Given the description of an element on the screen output the (x, y) to click on. 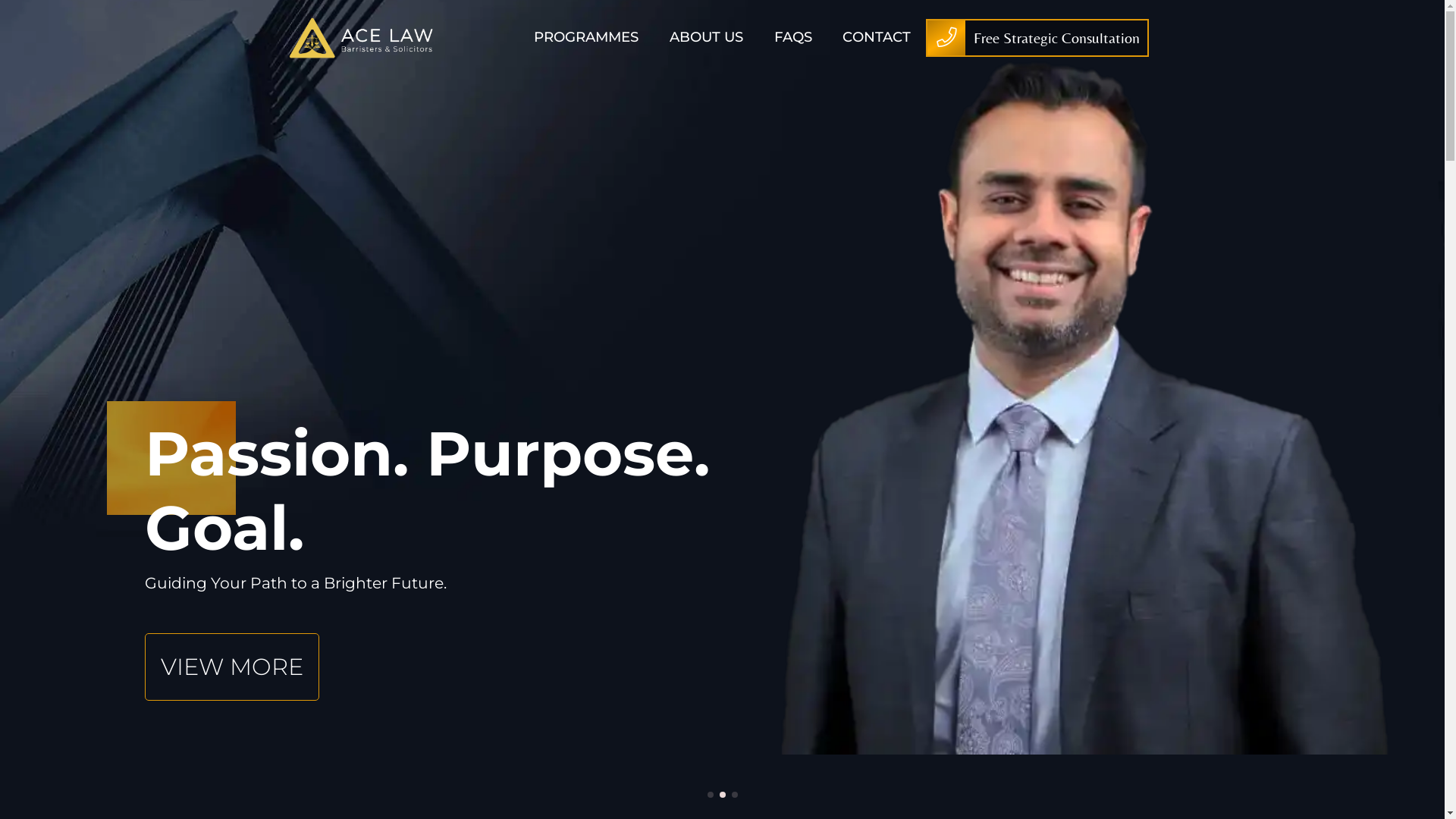
VIEW MORE Element type: text (231, 666)
CONTACT Element type: text (876, 37)
PROGRAMMES Element type: text (586, 37)
ABOUT US Element type: text (706, 37)
FAQS Element type: text (792, 37)
